Given the description of an element on the screen output the (x, y) to click on. 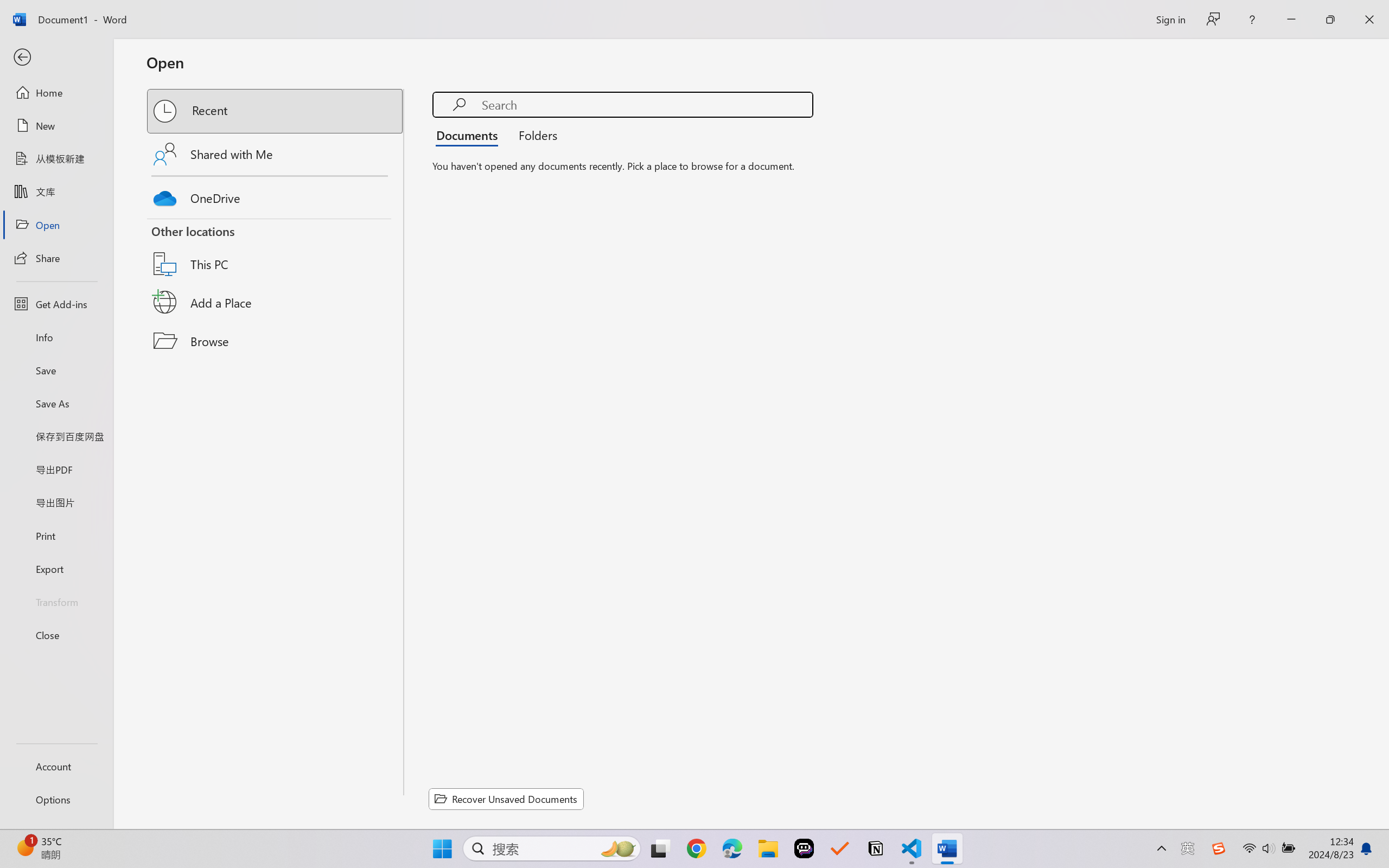
Add a Place (275, 302)
Get Add-ins (56, 303)
Options (56, 798)
OneDrive (275, 195)
Documents (469, 134)
